Given the description of an element on the screen output the (x, y) to click on. 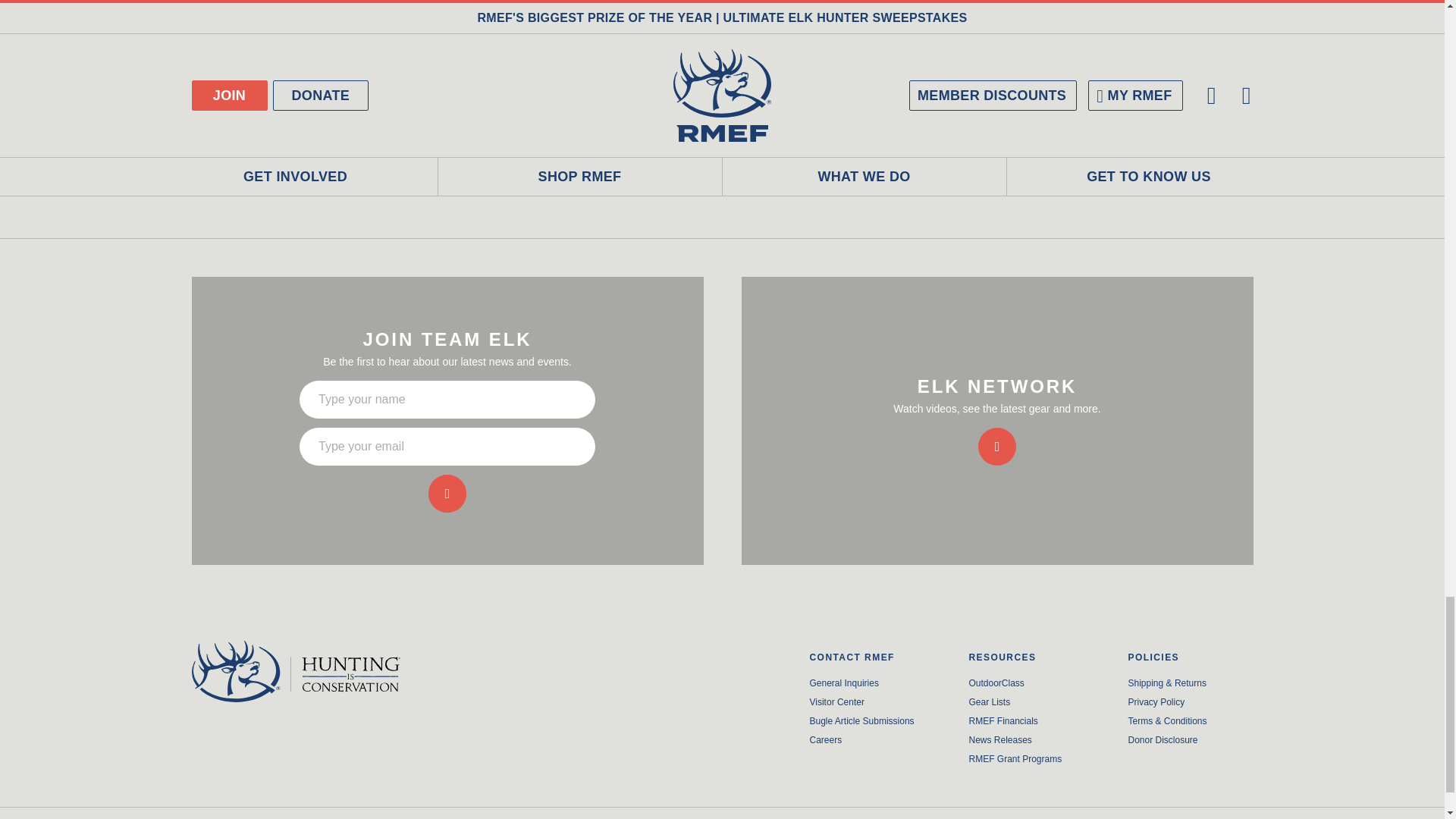
Home (314, 670)
